Given the description of an element on the screen output the (x, y) to click on. 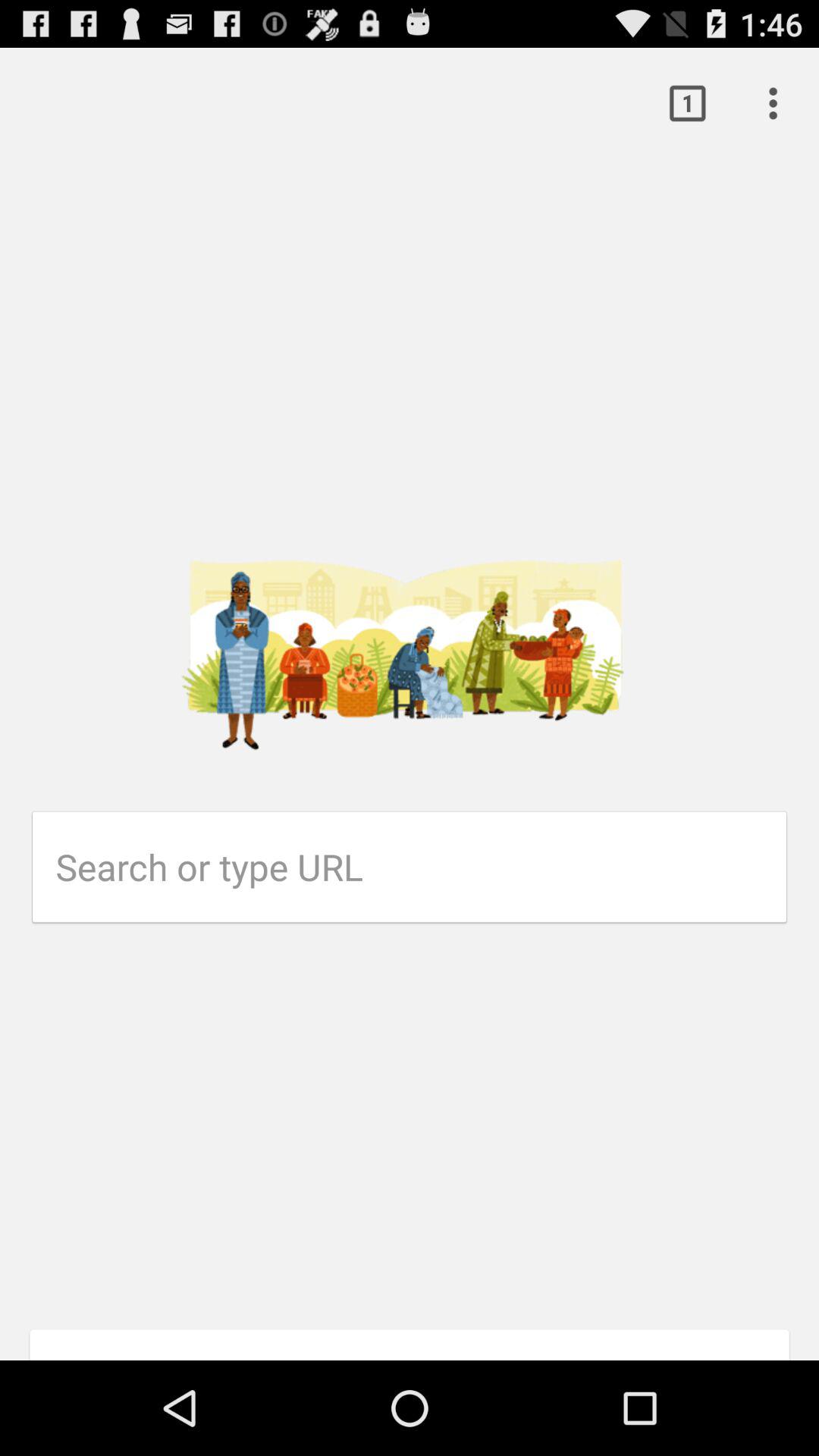
search for url (421, 866)
